Given the description of an element on the screen output the (x, y) to click on. 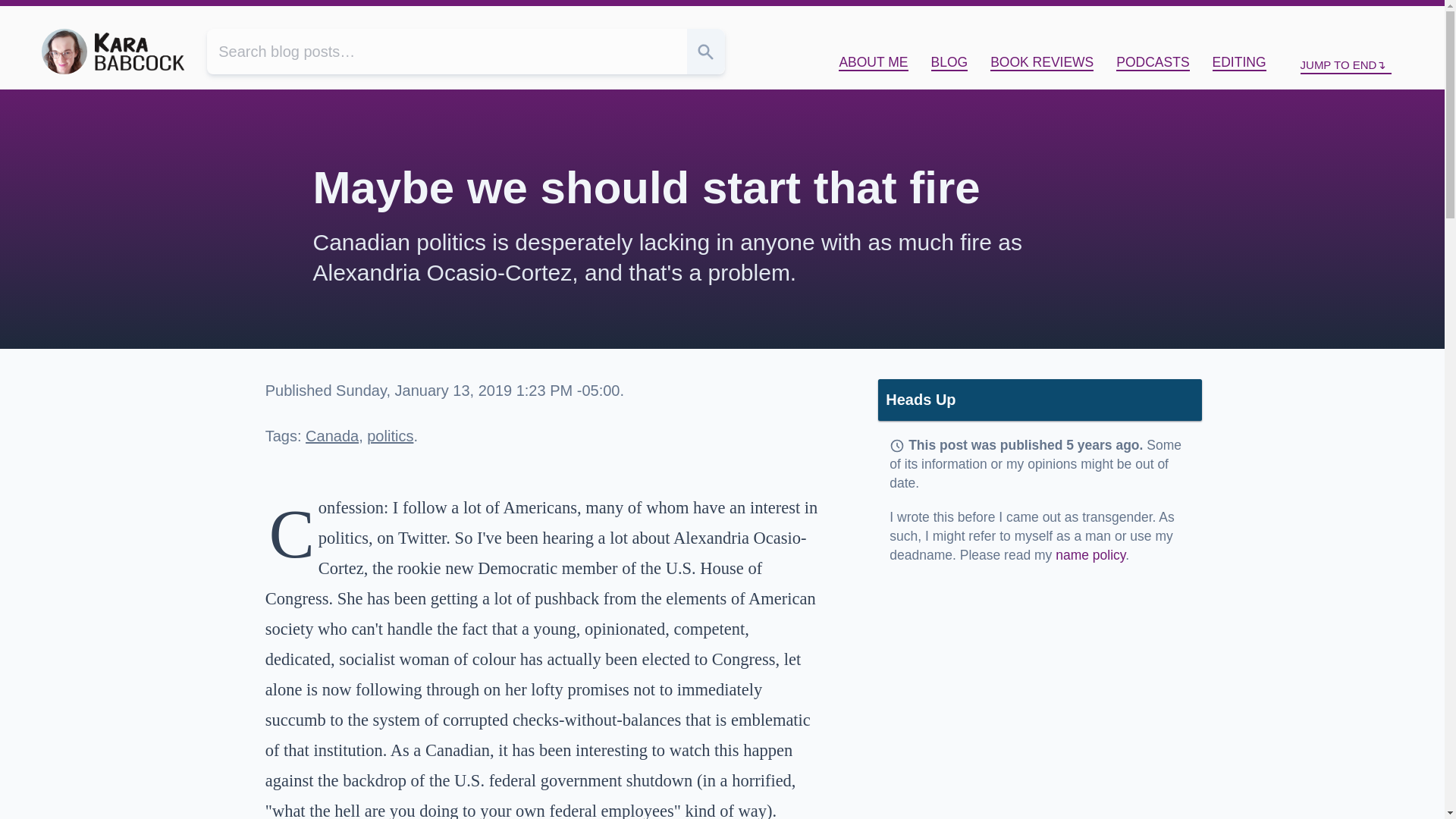
JUMP TO END (1345, 65)
BOOK REVIEWS (1041, 62)
Learn more about me! (872, 62)
Canada (331, 435)
Go to my book reviews website (1041, 62)
I offer freelance editing services (1239, 62)
Jump to top of page (1317, 18)
BLOG (949, 62)
politics (389, 435)
Start (1317, 18)
